Given the description of an element on the screen output the (x, y) to click on. 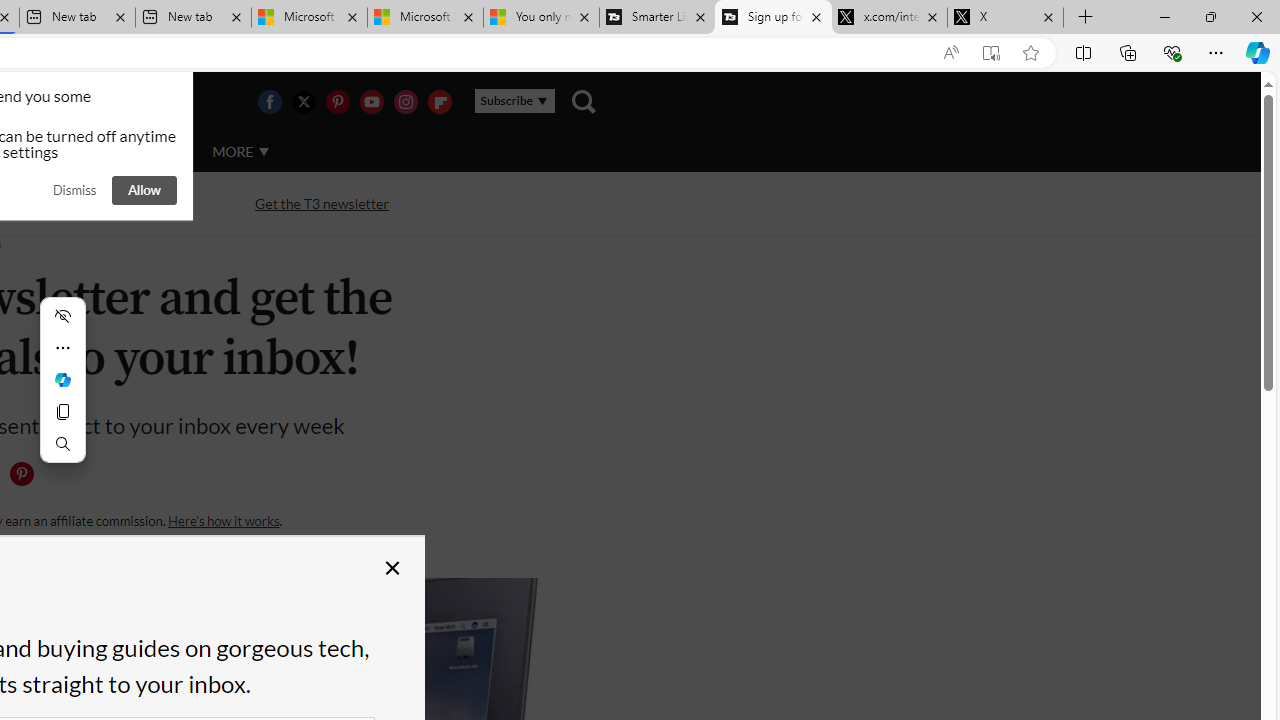
Class: svg-arrow-down (264, 151)
flag of UK (44, 102)
Search (62, 443)
Microsoft Start Sports (309, 17)
AUTO (153, 151)
Restore (1210, 16)
Allow (144, 190)
